Given the description of an element on the screen output the (x, y) to click on. 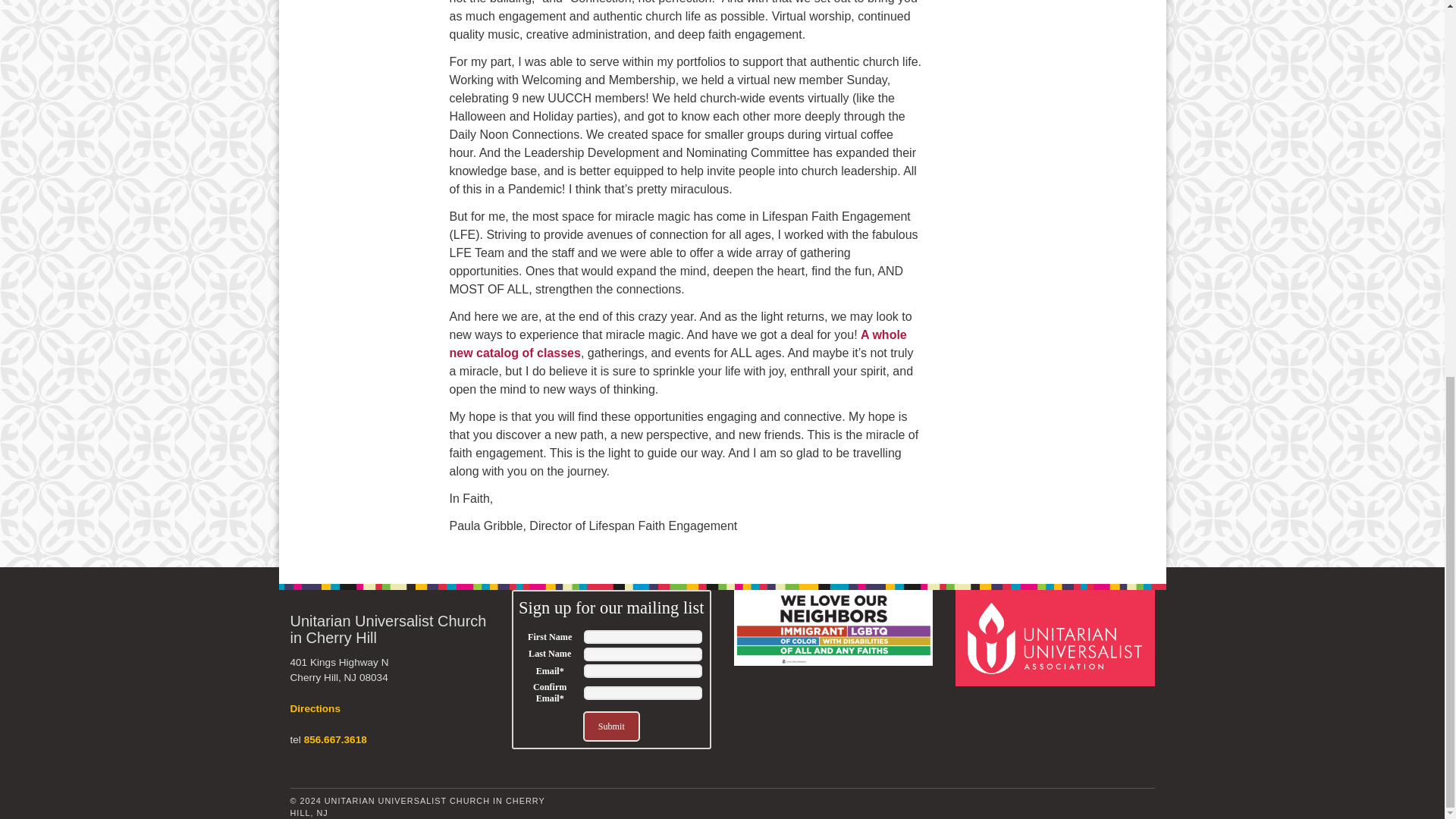
Unitarian Universalist Association (1056, 636)
Submit (611, 726)
